Given the description of an element on the screen output the (x, y) to click on. 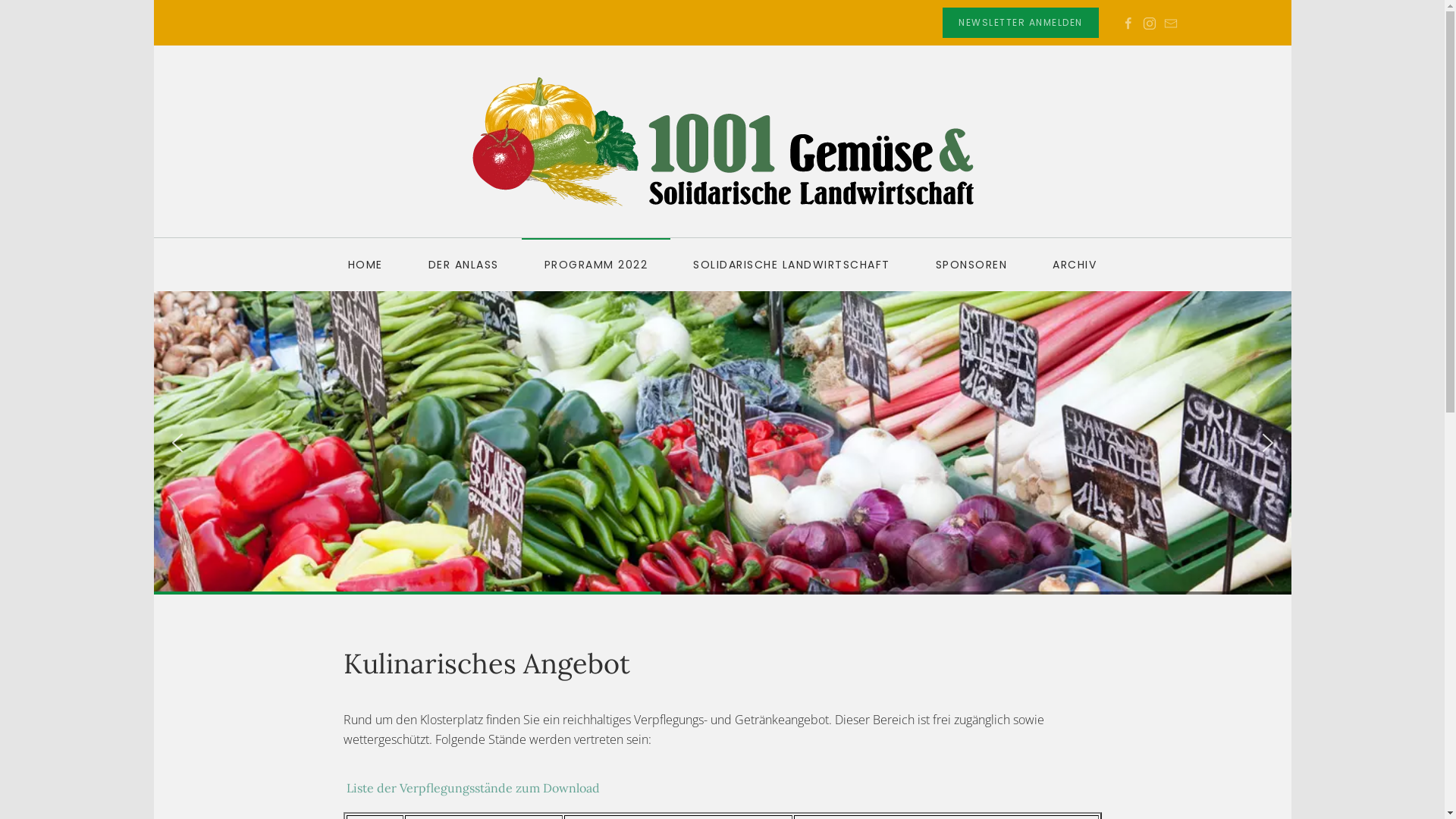
PROGRAMM 2022 Element type: text (596, 264)
SOLIDARISCHE LANDWIRTSCHAFT Element type: text (791, 264)
ARCHIV Element type: text (1074, 264)
HOME Element type: text (365, 264)
DER ANLASS Element type: text (463, 264)
NEWSLETTER ANMELDEN Element type: text (1020, 22)
SPONSOREN Element type: text (971, 264)
